Given the description of an element on the screen output the (x, y) to click on. 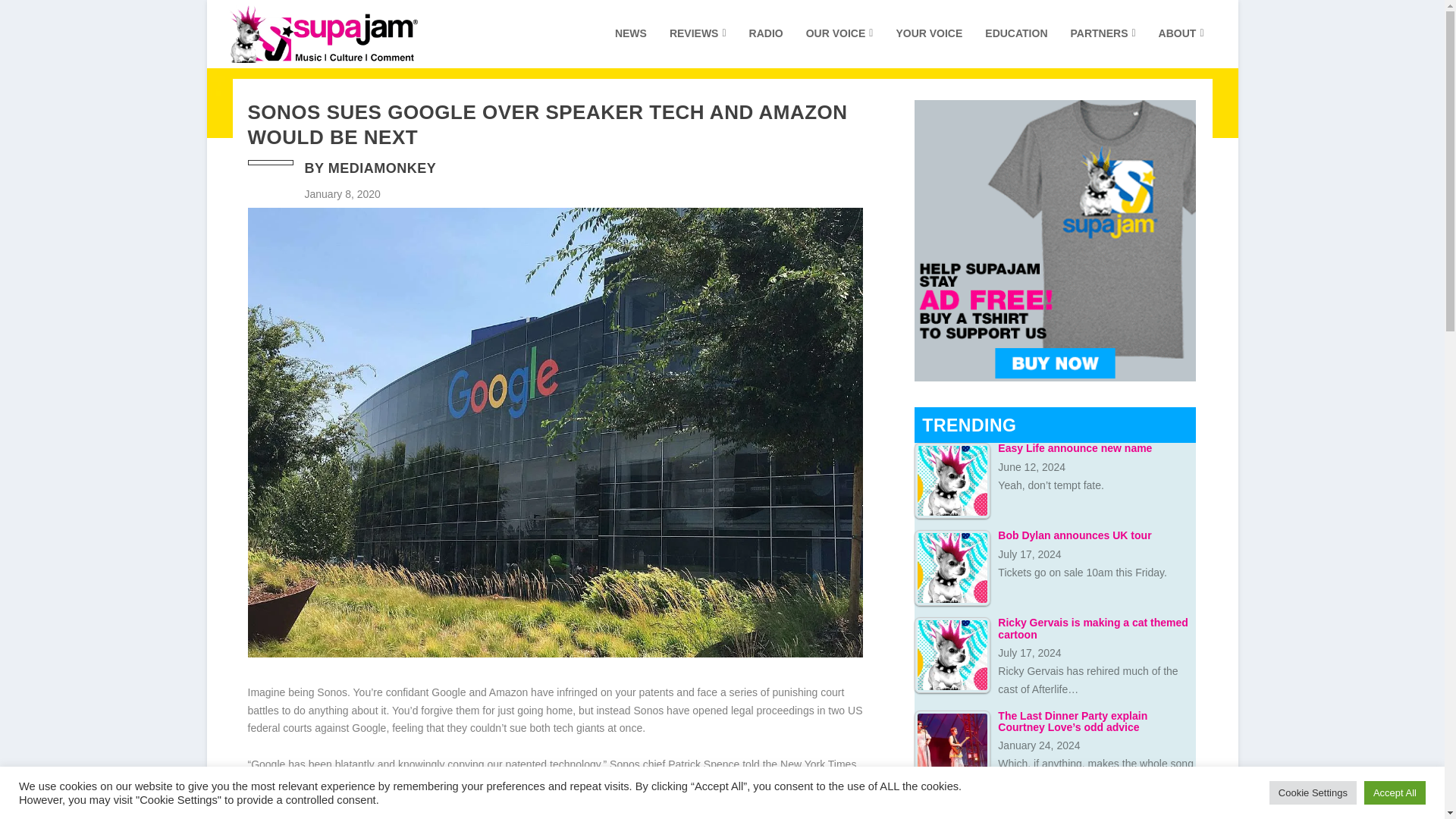
REVIEWS (697, 47)
The teaser for Megalopolis is top notch (952, 811)
Ricky Gervais is making a cat themed cartoon (952, 654)
Easy Life announce new name (952, 480)
OUR VOICE (839, 47)
Bob Dylan announces UK tour (952, 567)
NEWS (630, 47)
YOUR VOICE (928, 47)
RADIO (766, 47)
EDUCATION (1015, 47)
